Given the description of an element on the screen output the (x, y) to click on. 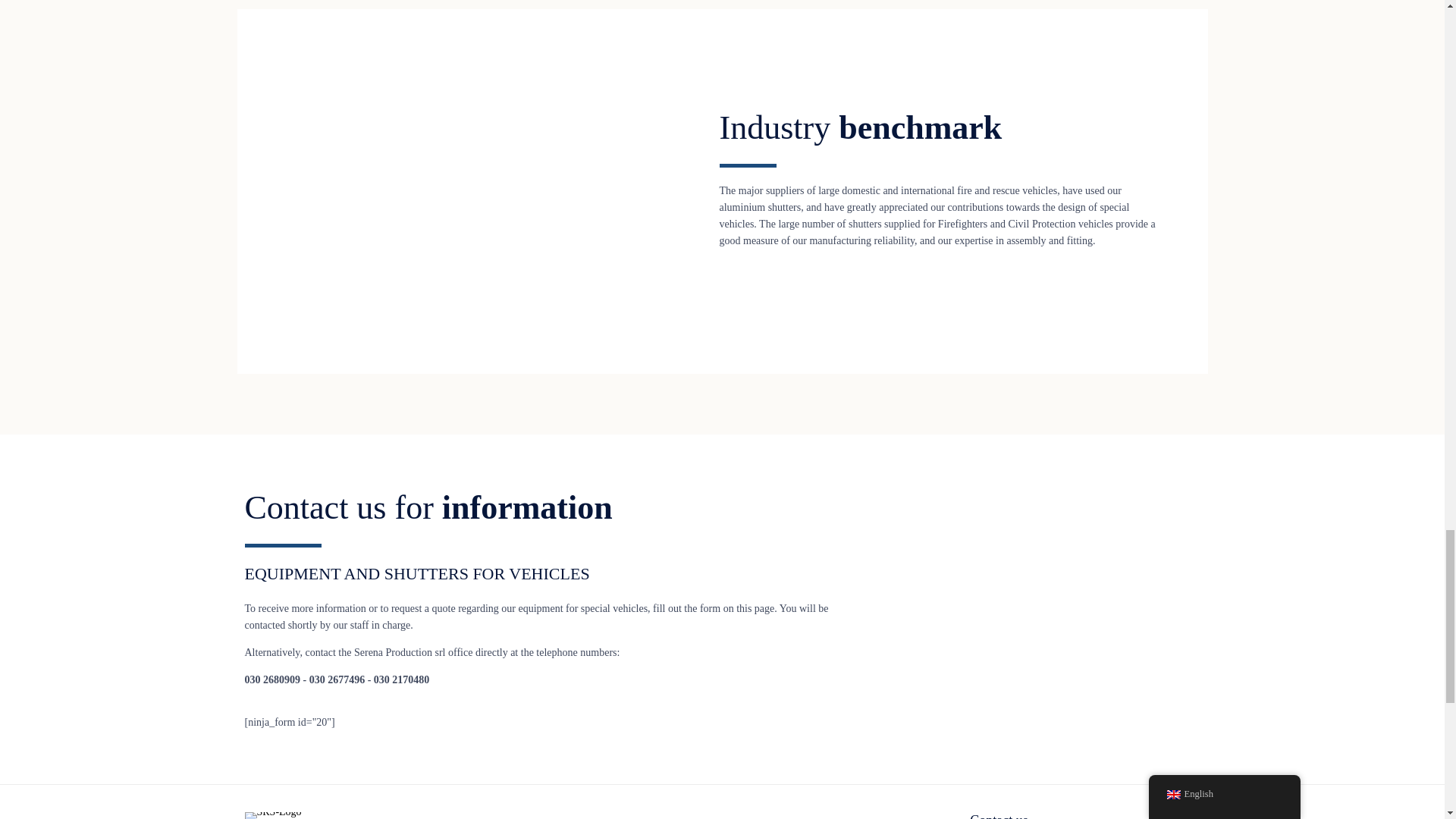
SRS-Logo (274, 811)
SRS-Logo (274, 815)
